Given the description of an element on the screen output the (x, y) to click on. 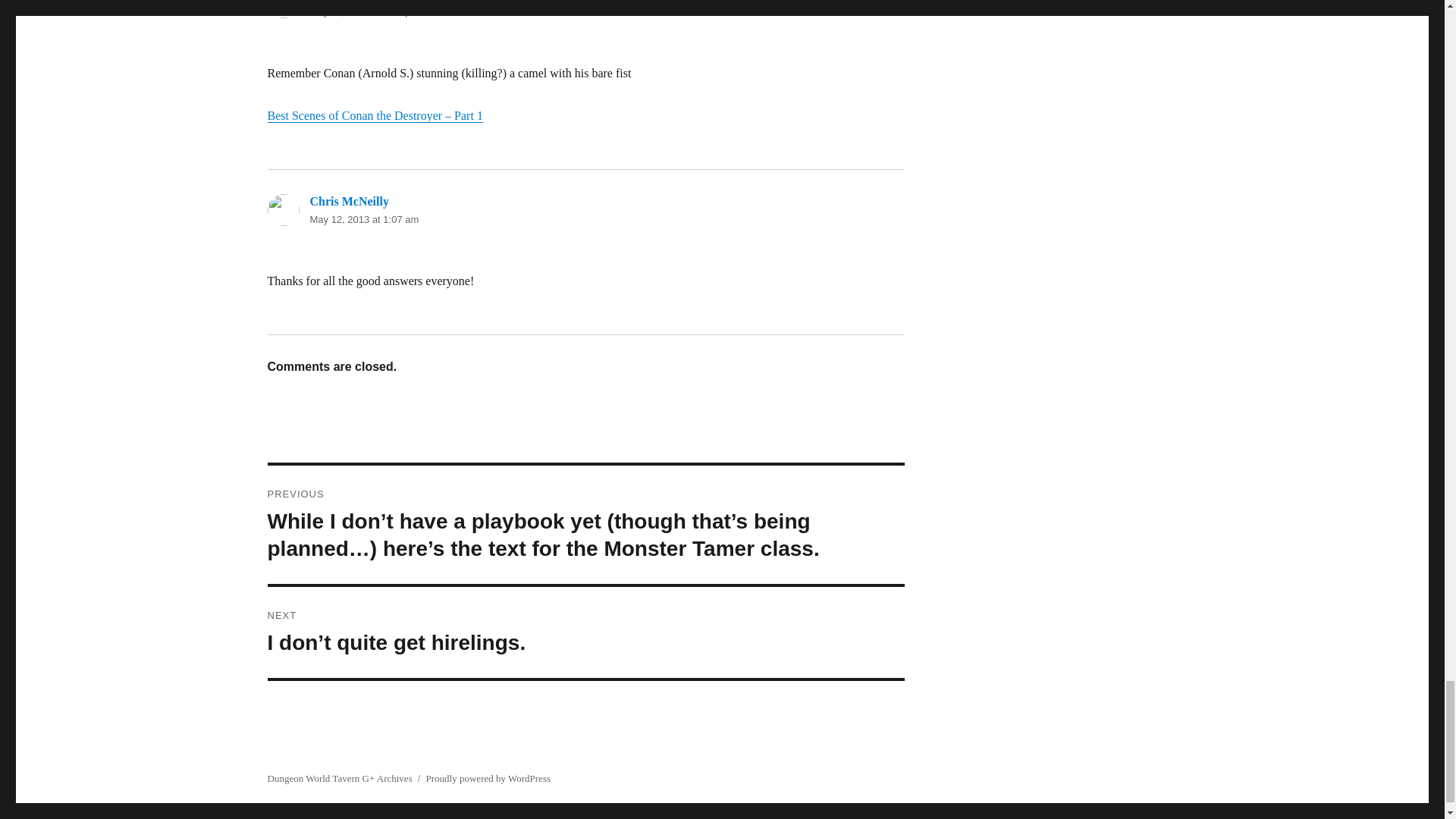
Chris McNeilly (348, 201)
May 12, 2013 at 1:07 am (363, 219)
May 11, 2013 at 6:05 pm (363, 11)
